Given the description of an element on the screen output the (x, y) to click on. 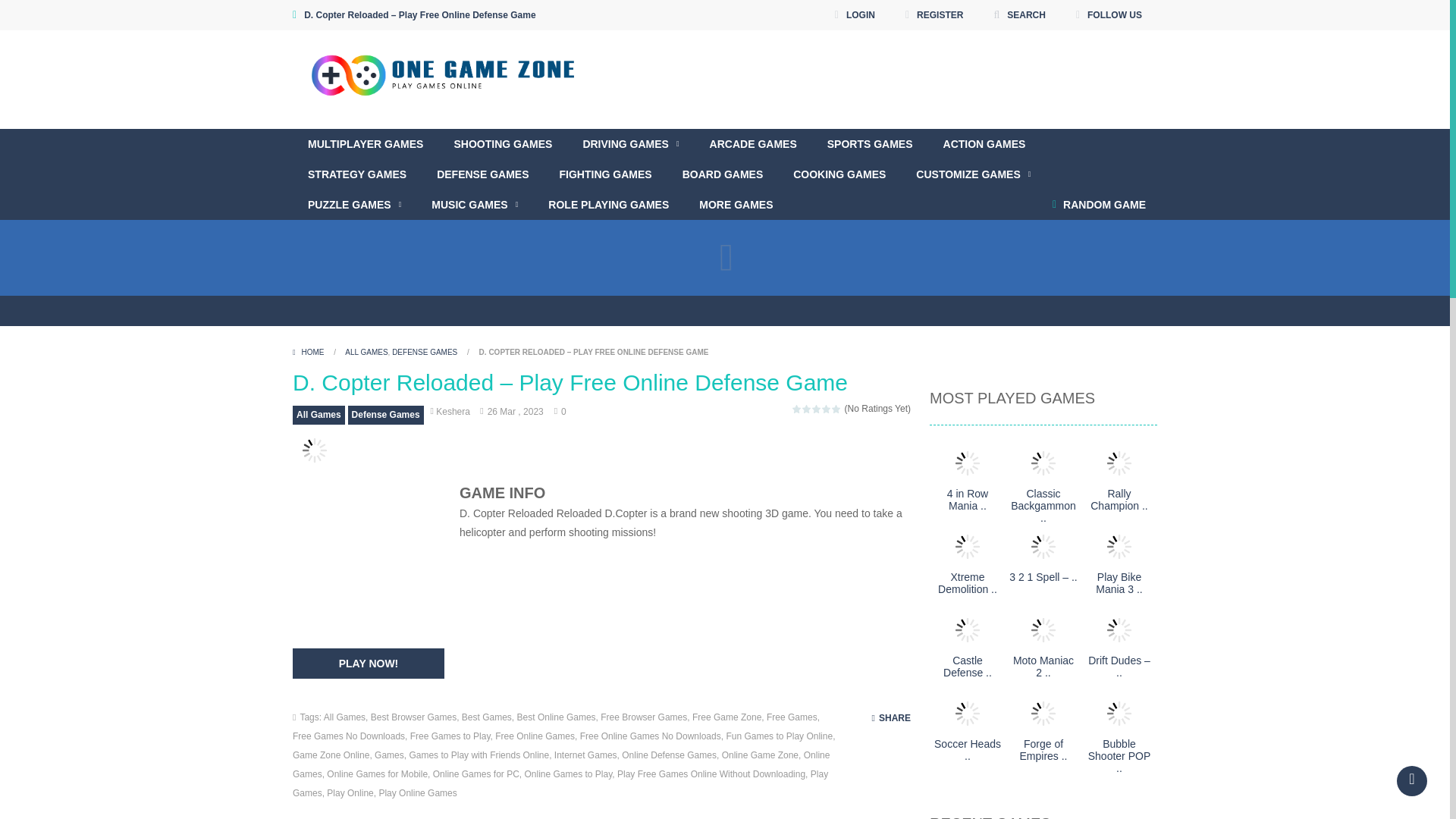
SEARCH (1019, 15)
CUSTOMIZE GAMES (973, 173)
FIGHTING GAMES (605, 173)
DEFENSE GAMES (482, 173)
BOARD GAMES (722, 173)
ARCADE GAMES (753, 143)
LOGIN (855, 15)
STRATEGY GAMES (357, 173)
PUZZLE GAMES (354, 204)
COOKING GAMES (839, 173)
FOLLOW US (1108, 15)
REGISTER (933, 15)
SHOOTING GAMES (502, 143)
SPORTS GAMES (870, 143)
MULTIPLAYER GAMES (365, 143)
